Given the description of an element on the screen output the (x, y) to click on. 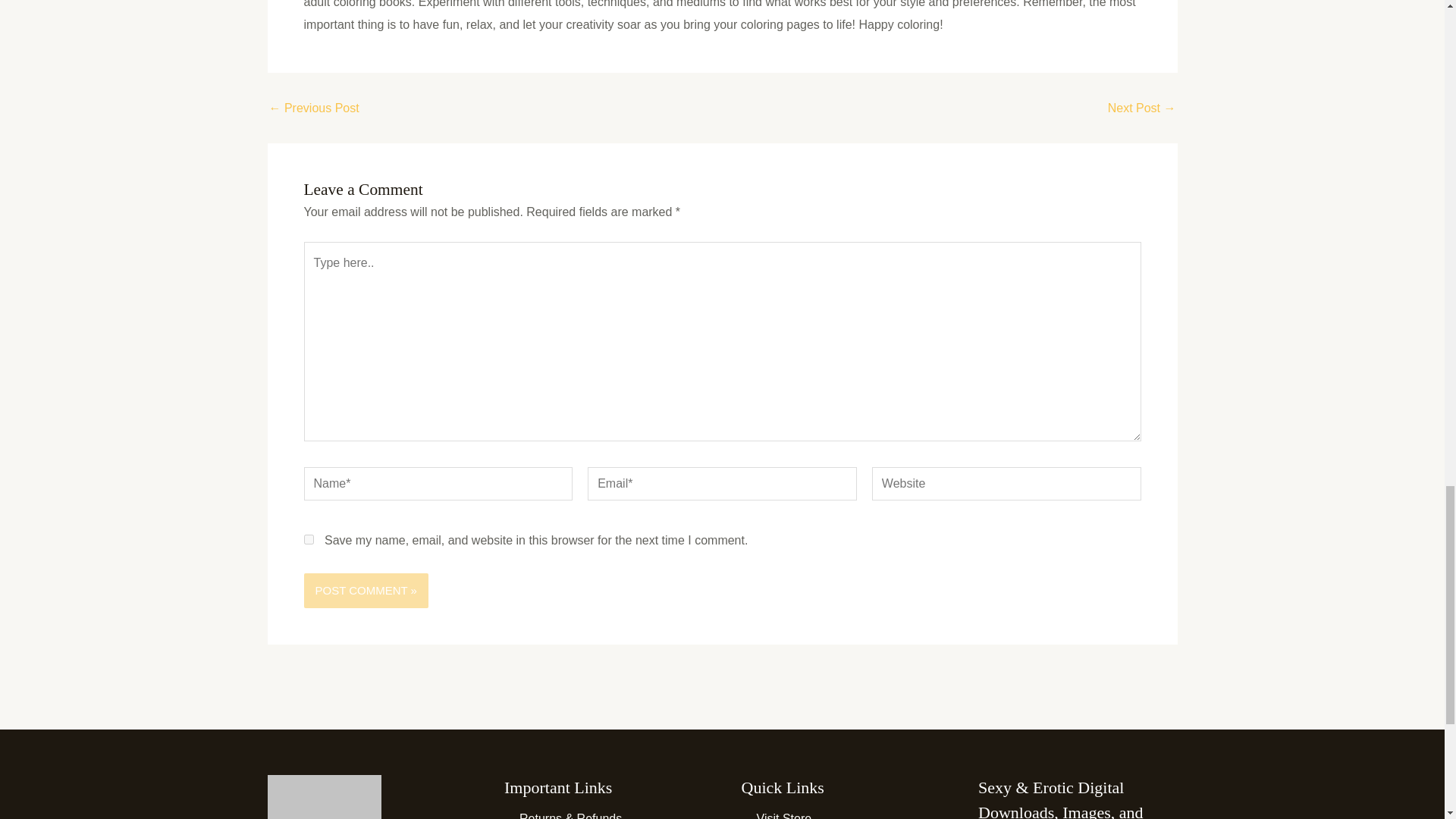
yes (307, 539)
Visit Store (776, 815)
